Given the description of an element on the screen output the (x, y) to click on. 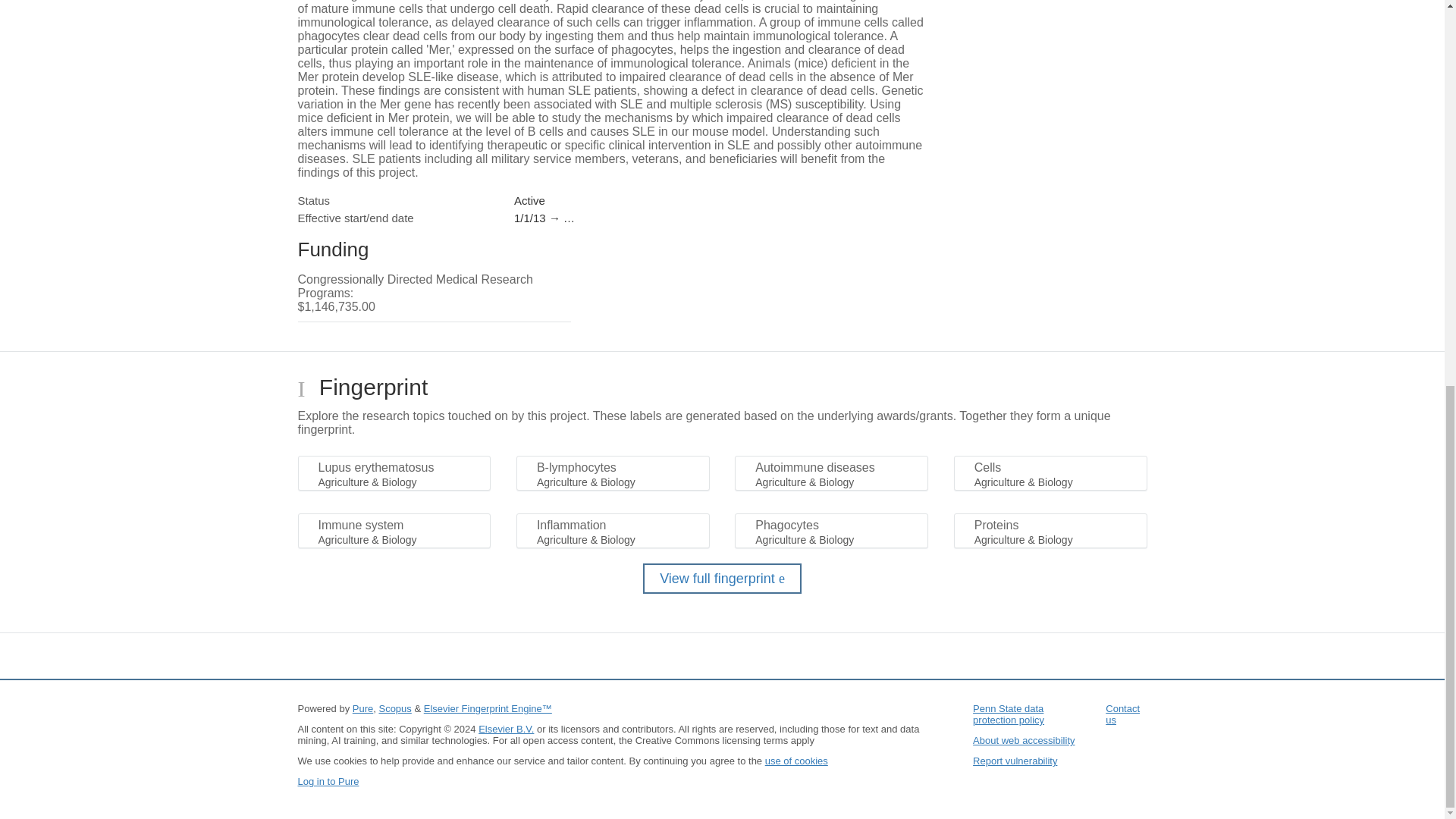
Scopus (394, 708)
use of cookies (796, 760)
Penn State data protection policy (1007, 713)
Log in to Pure (327, 781)
About web accessibility (1023, 740)
Pure (362, 708)
View full fingerprint (722, 578)
Elsevier B.V. (506, 728)
Report vulnerability (1014, 760)
